Given the description of an element on the screen output the (x, y) to click on. 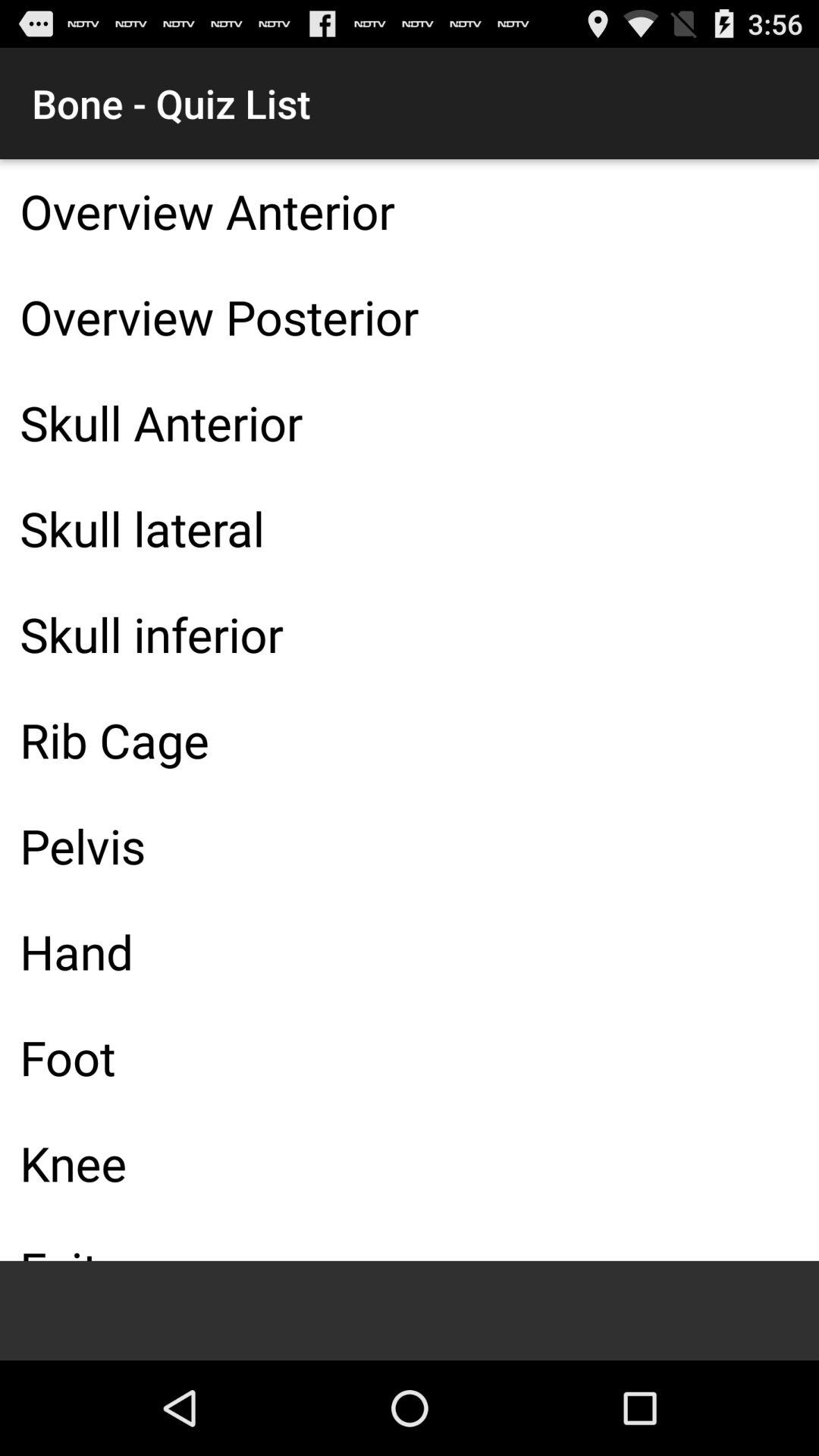
turn off the app below foot item (409, 1162)
